Given the description of an element on the screen output the (x, y) to click on. 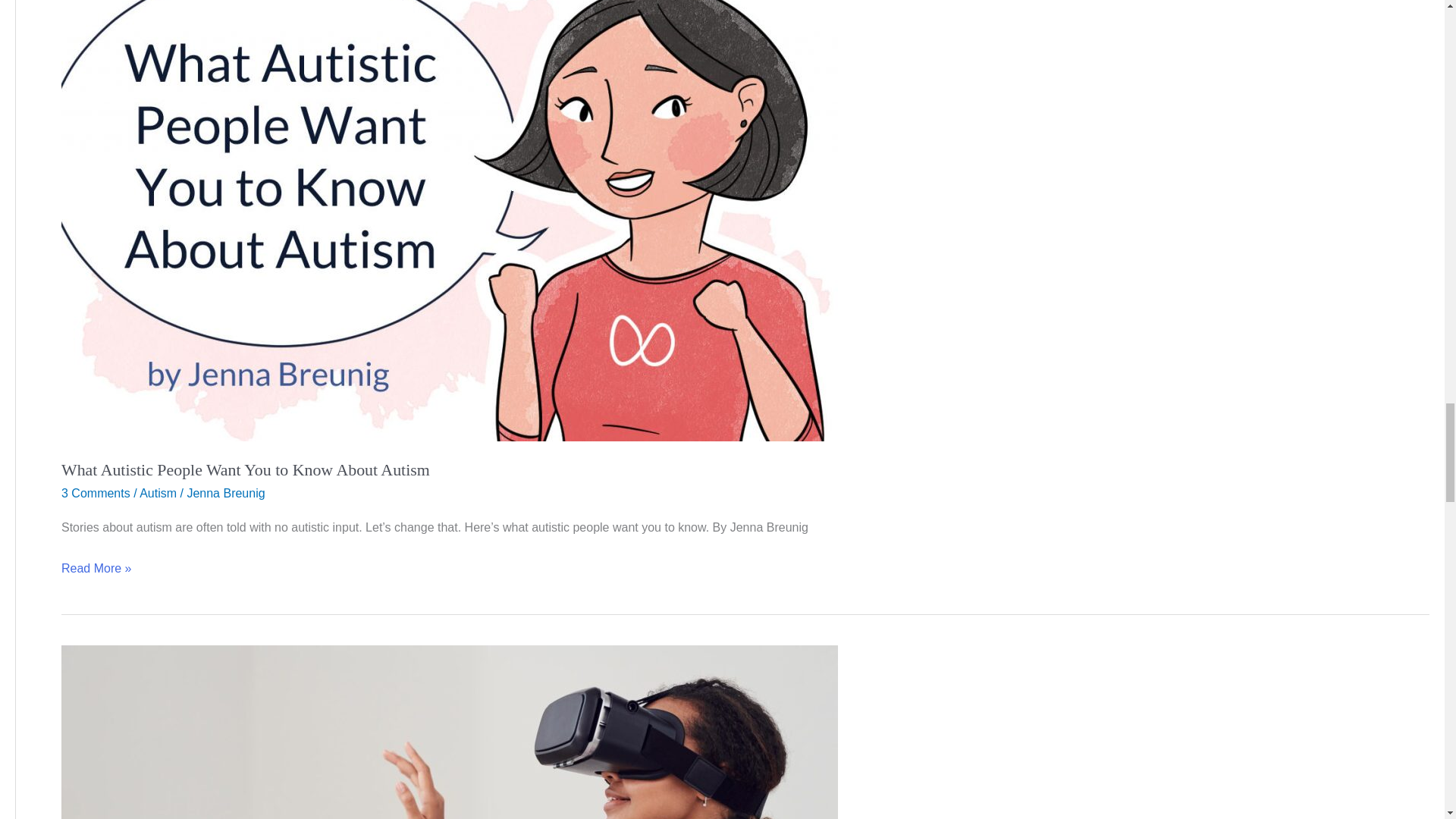
View all posts by Jenna Breunig (225, 492)
